Given the description of an element on the screen output the (x, y) to click on. 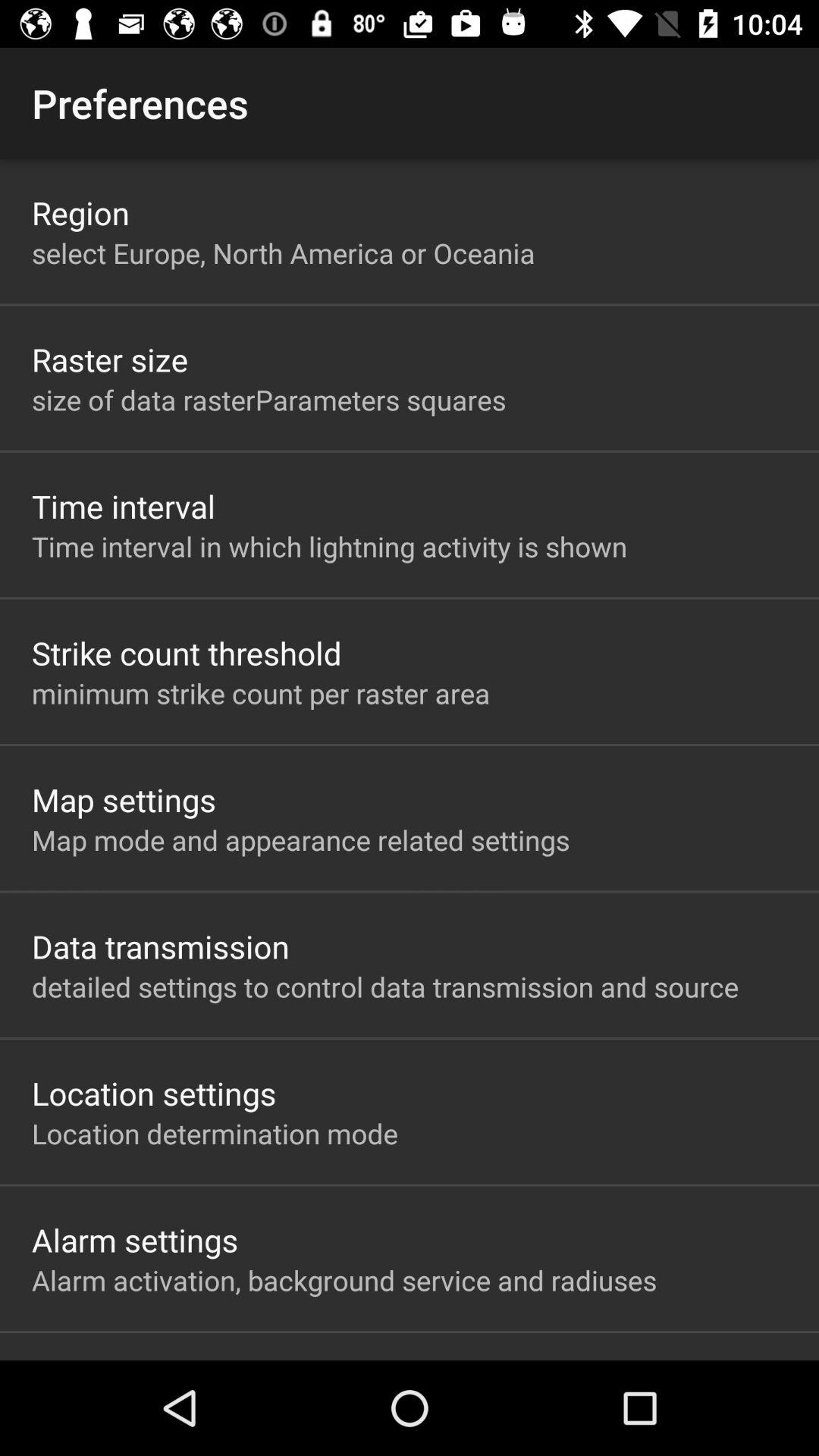
jump to alarm activation background icon (343, 1280)
